Given the description of an element on the screen output the (x, y) to click on. 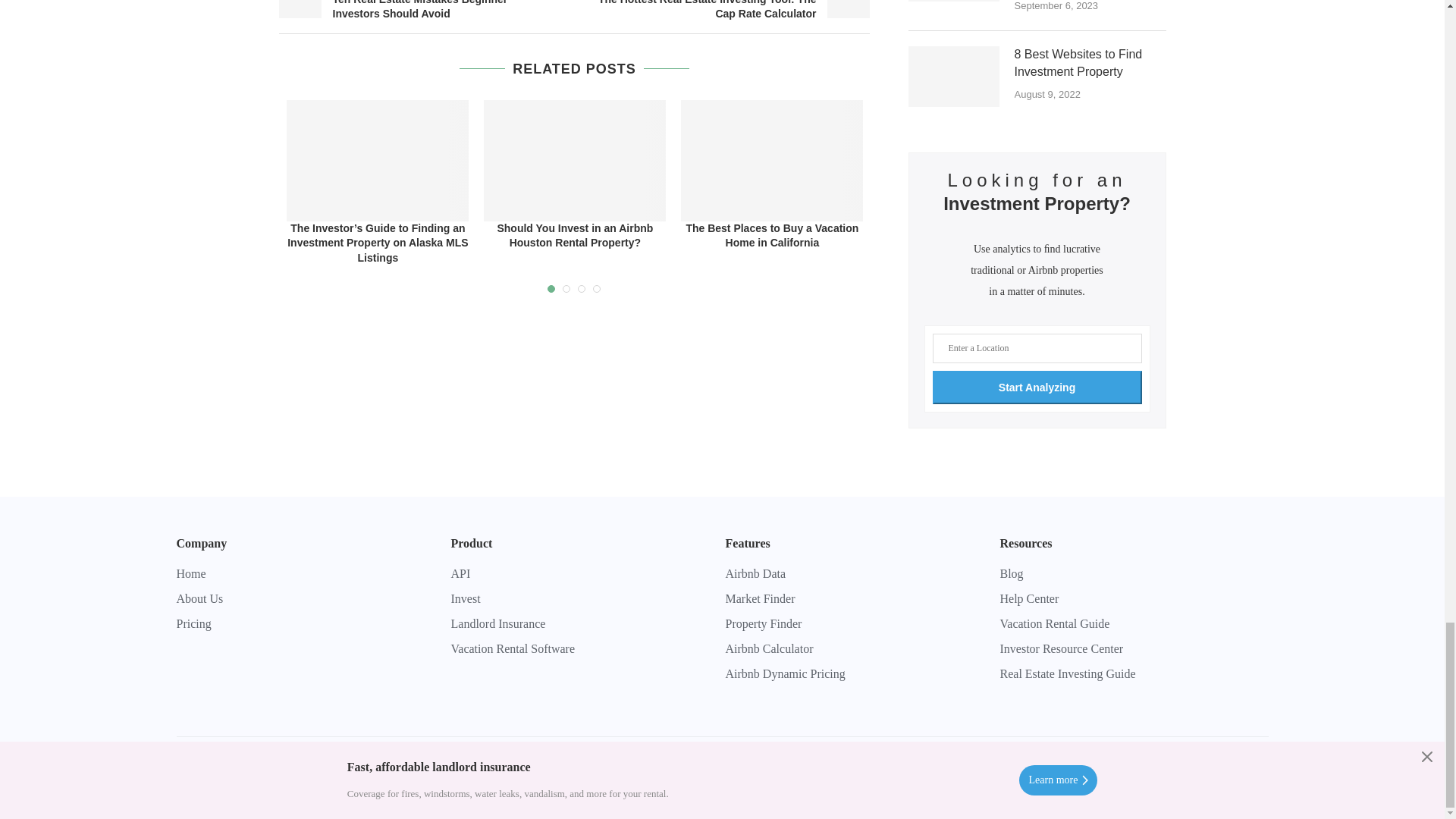
Should You Invest in an Airbnb Houston Rental Property? (574, 160)
The Best Places to Buy a Vacation Home in California (772, 160)
